Given the description of an element on the screen output the (x, y) to click on. 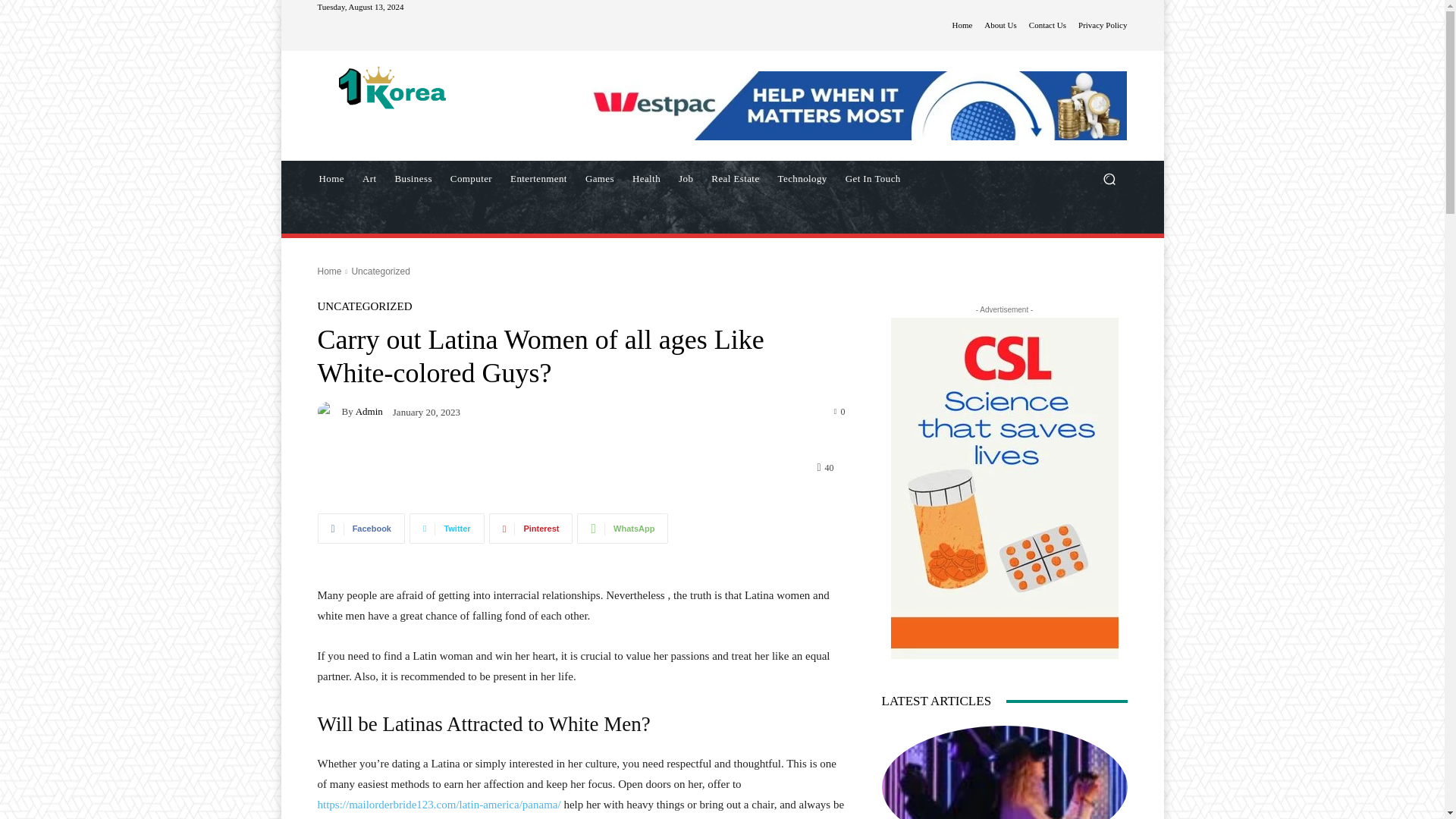
Facebook (360, 528)
About Us (1000, 25)
Job (685, 178)
Real Estate (734, 178)
Art (369, 178)
Contact Us (1047, 25)
Home (962, 25)
Twitter (446, 528)
Business (413, 178)
Computer (470, 178)
